Given the description of an element on the screen output the (x, y) to click on. 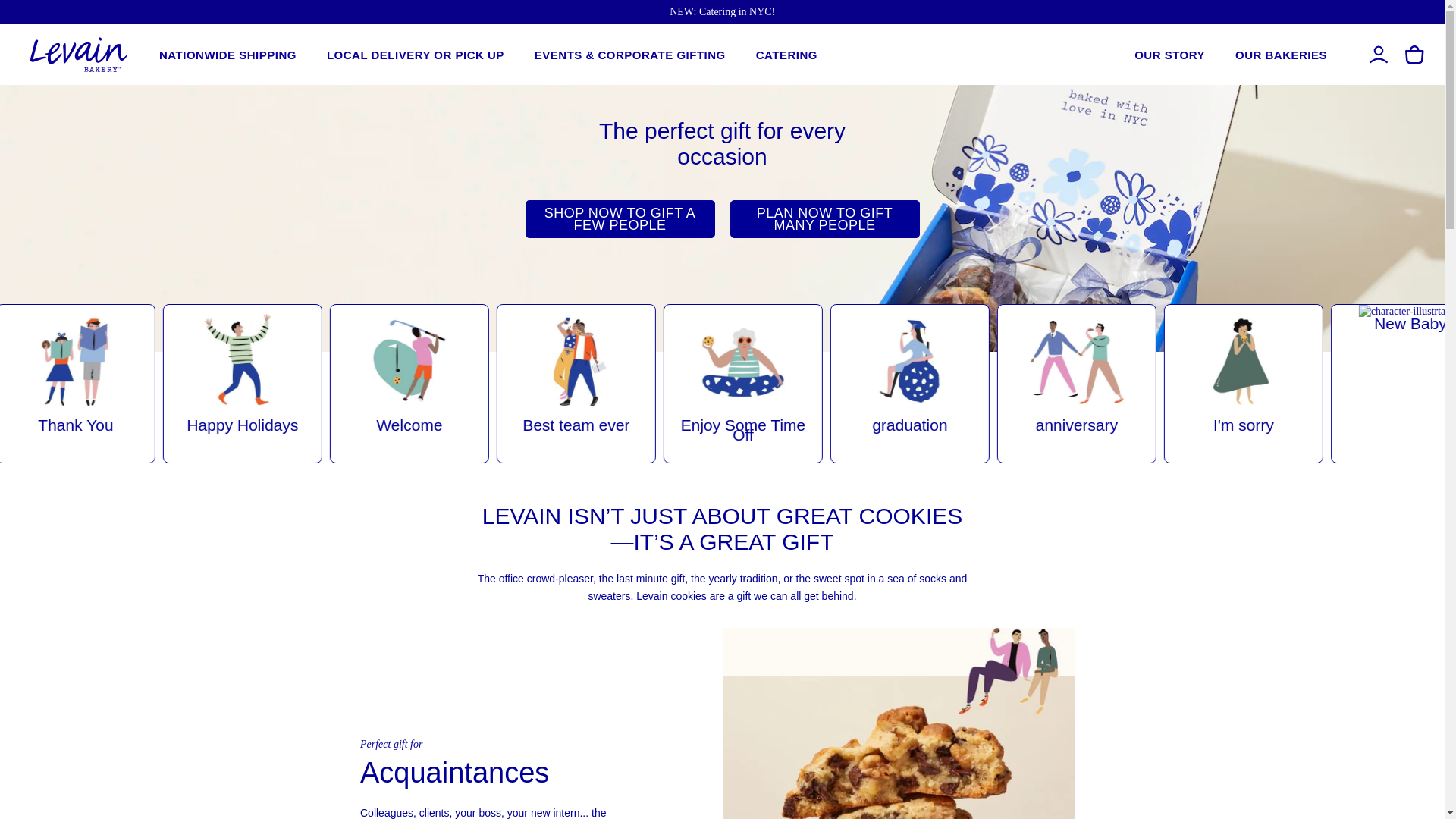
NEW: Catering in NYC! (721, 11)
LOCAL DELIVERY OR PICK UP (414, 53)
OUR BAKERIES (1280, 53)
NATIONWIDE SHIPPING (227, 53)
CATERING (785, 53)
OUR STORY (1169, 53)
